Given the description of an element on the screen output the (x, y) to click on. 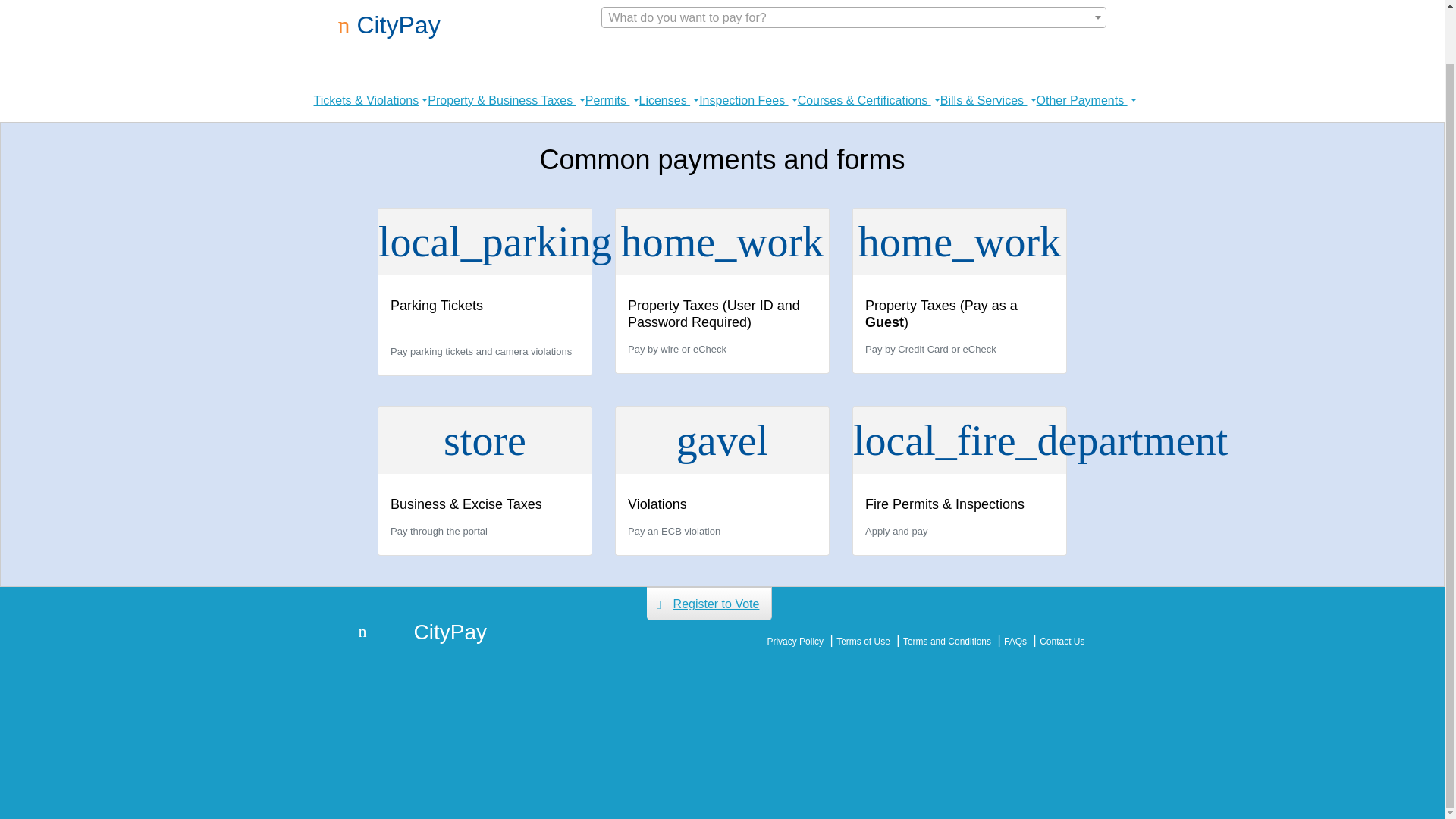
Terms of Use (862, 641)
Contact Us (1061, 641)
Terms and Conditions (946, 641)
CityPay (389, 24)
Privacy Policy (795, 641)
Permits (612, 100)
FAQs (1015, 641)
